Given the description of an element on the screen output the (x, y) to click on. 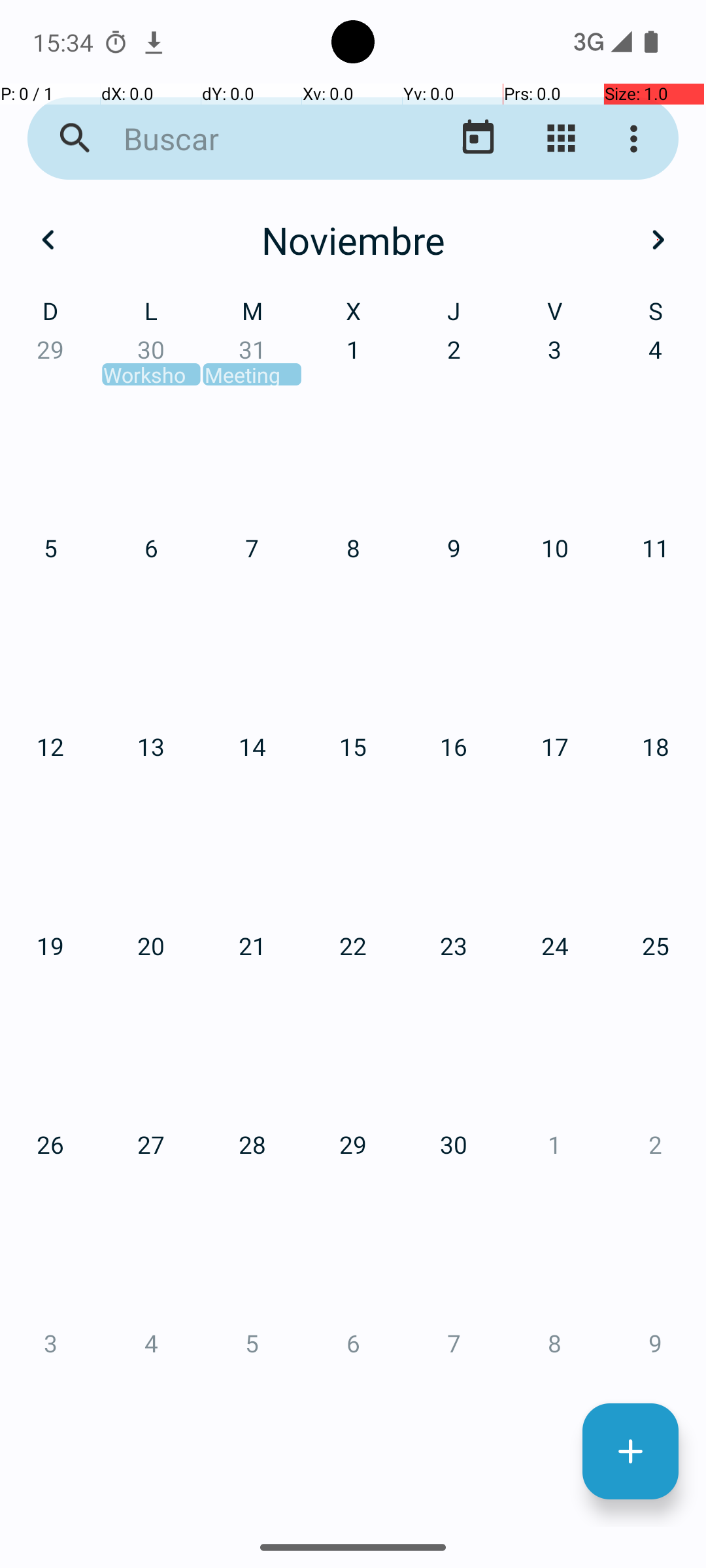
Ir al día de hoy Element type: android.widget.Button (477, 138)
Noviembre Element type: android.widget.TextView (352, 239)
